Given the description of an element on the screen output the (x, y) to click on. 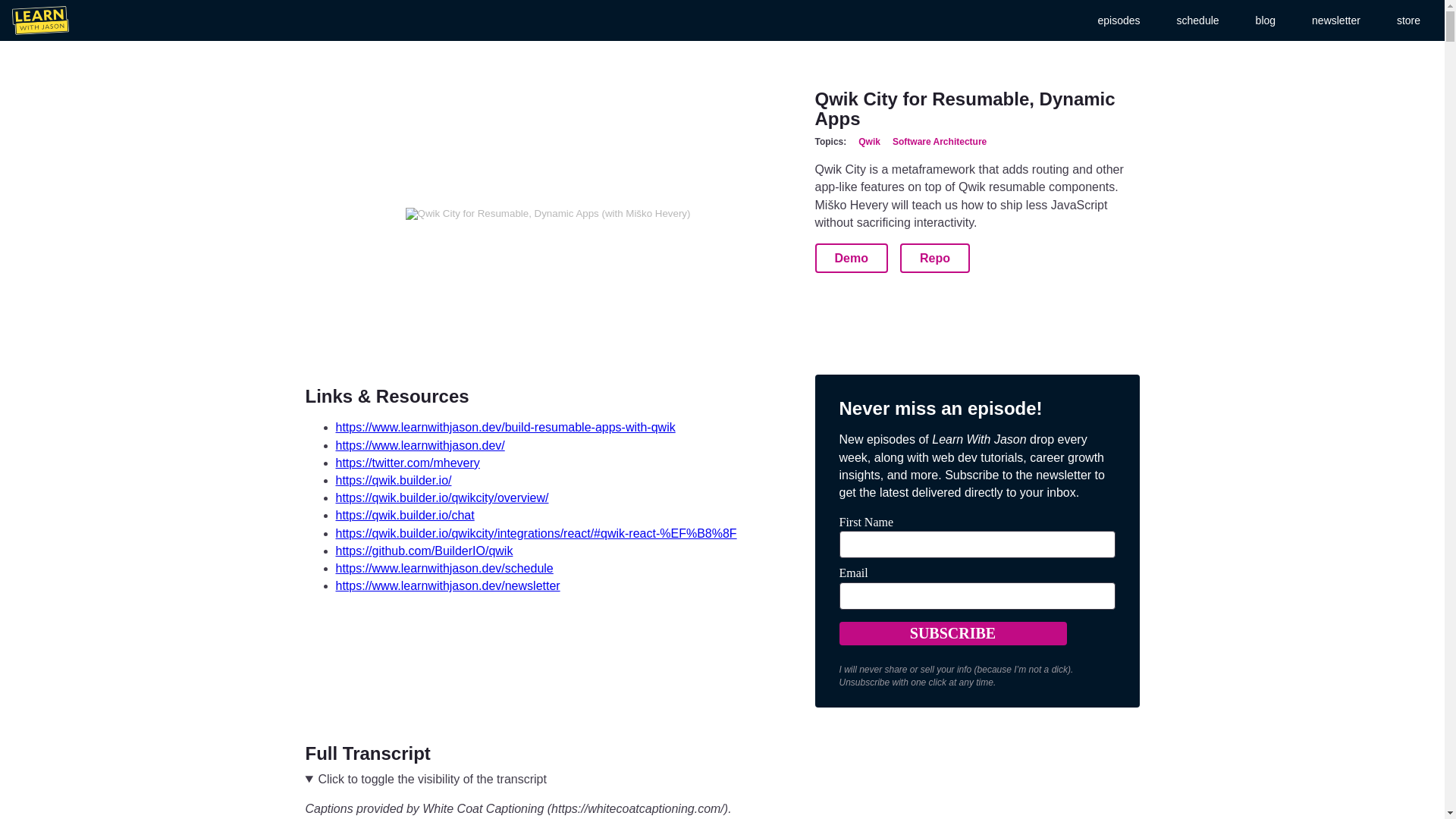
Repo (934, 257)
SUBSCRIBE (951, 633)
schedule (1197, 20)
Software Architecture (939, 141)
store (1408, 20)
home (39, 20)
Demo (849, 257)
Qwik (869, 141)
episodes (1119, 20)
